Given the description of an element on the screen output the (x, y) to click on. 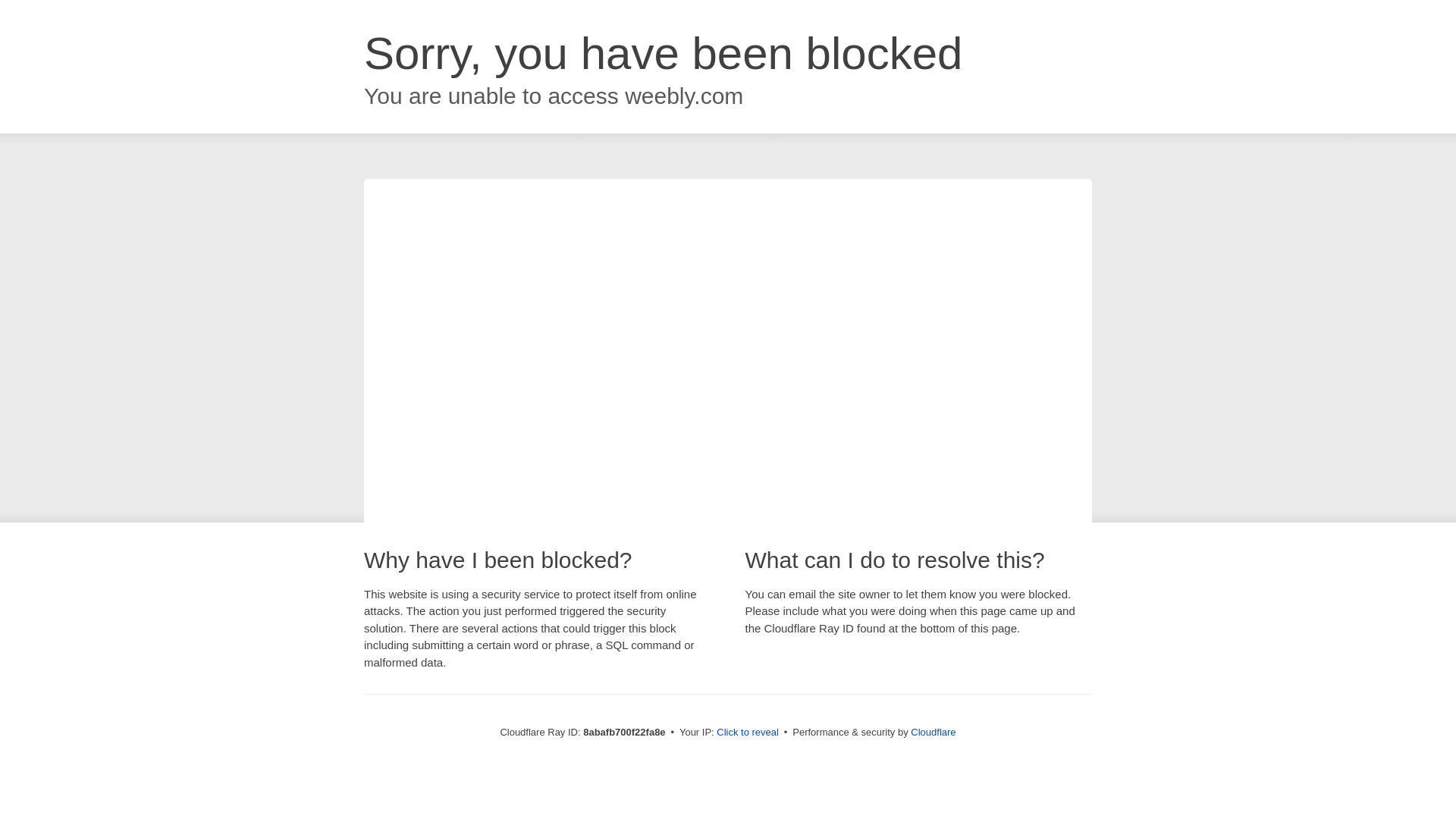
Cloudflare (933, 731)
Click to reveal (747, 732)
